Given the description of an element on the screen output the (x, y) to click on. 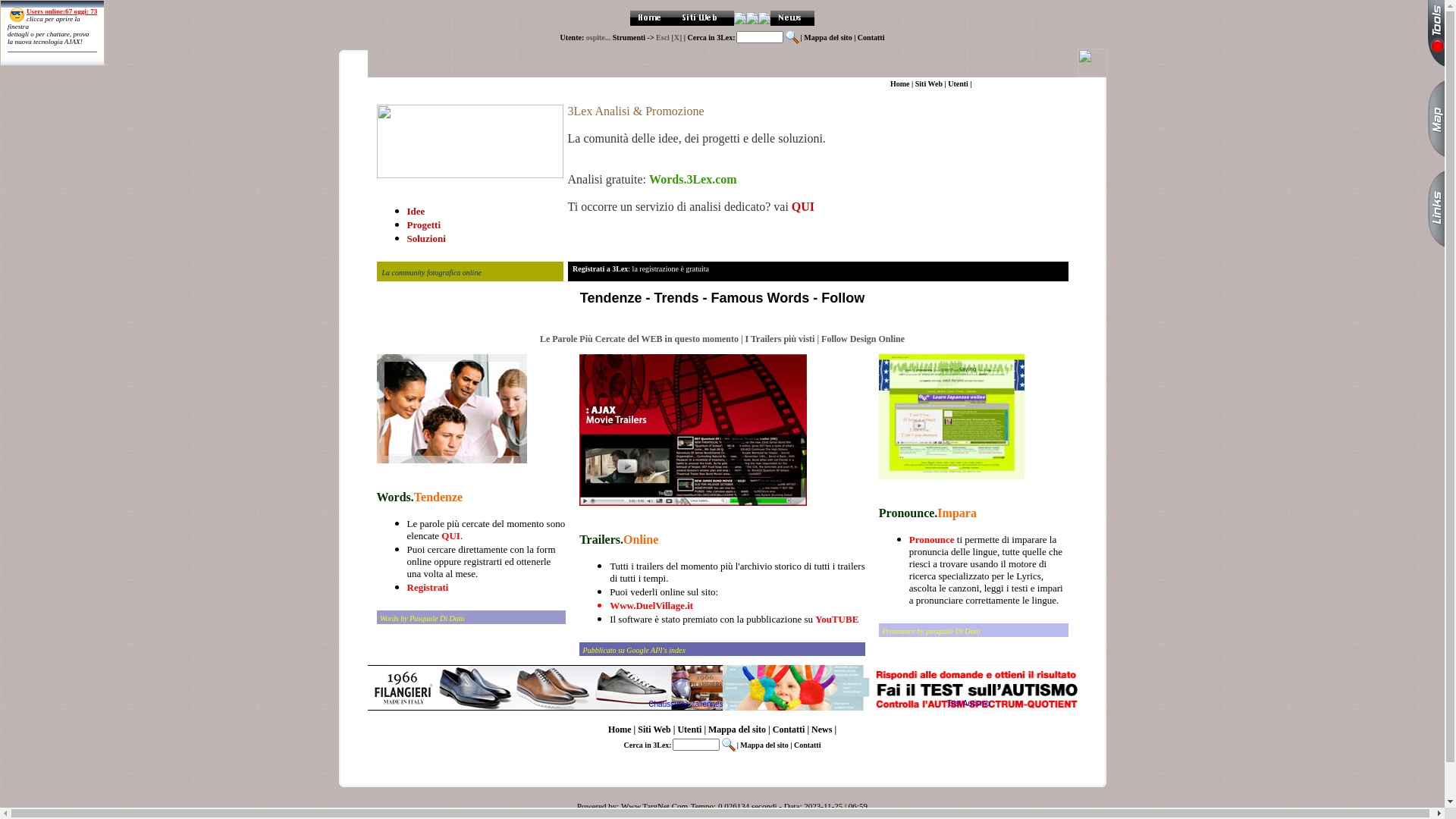
| Element type: text (768, 729)
Mappa del sito Element type: text (554, 83)
Mappa del sito Element type: text (763, 744)
| Element type: text (802, 37)
Chaussures italiennes Element type: hover (544, 687)
Home Element type: text (460, 83)
QUI. Element type: text (450, 535)
Www.TargNet.Com Element type: text (654, 805)
| Element type: text (611, 83)
QUI Element type: text (801, 206)
| Element type: text (790, 744)
Strumenti ->  Element type: text (633, 37)
| Element type: text (674, 729)
Test Autismo Element type: hover (898, 687)
Contatti Element type: text (807, 744)
Registrati a 3Lex Element type: text (599, 268)
News Element type: text (821, 729)
Siti Web Element type: text (488, 83)
Siti Web Element type: text (653, 729)
Words.3Lex.com Element type: text (691, 178)
| Cerca in 3Lex: Element type: text (709, 37)
| Element type: text (528, 83)
Chaussures italiennes Element type: text (685, 703)
YouTUBE Element type: text (835, 618)
Registrati Element type: text (427, 587)
| Element type: text (632, 83)
Contatti Element type: text (870, 37)
Utente: Element type: text (573, 37)
Tempo: 0.026134 secondi - Data: 2023-11-25 | 06:59 Element type: text (778, 805)
| Element type: text (503, 83)
Test Autismo Element type: text (968, 703)
Mappa del sito Element type: text (827, 37)
Esci [X]  Element type: text (669, 37)
Utenti Element type: text (516, 83)
ospite... Element type: text (599, 37)
| Element type: text (738, 744)
| Element type: text (634, 729)
Cerca in 3Lex: Element type: text (647, 744)
Www.DuelVillage.it Element type: text (651, 604)
| Element type: text (580, 83)
Home Element type: text (619, 729)
| Element type: text (704, 729)
Contatti Element type: text (788, 729)
Mappa del sito Element type: text (736, 729)
Powered by: Element type: text (599, 805)
Utenti Element type: text (689, 729)
| Element type: text (833, 729)
| Element type: text (807, 729)
Chaussures italiennes
Test Autismo Element type: text (721, 687)
Tendenze - Trends - Famous Words - Follow Element type: text (722, 297)
Contatti Element type: text (596, 83)
News Element type: text (622, 83)
| Element type: text (854, 37)
Pronounce Element type: text (933, 539)
| Element type: text (472, 83)
